Given the description of an element on the screen output the (x, y) to click on. 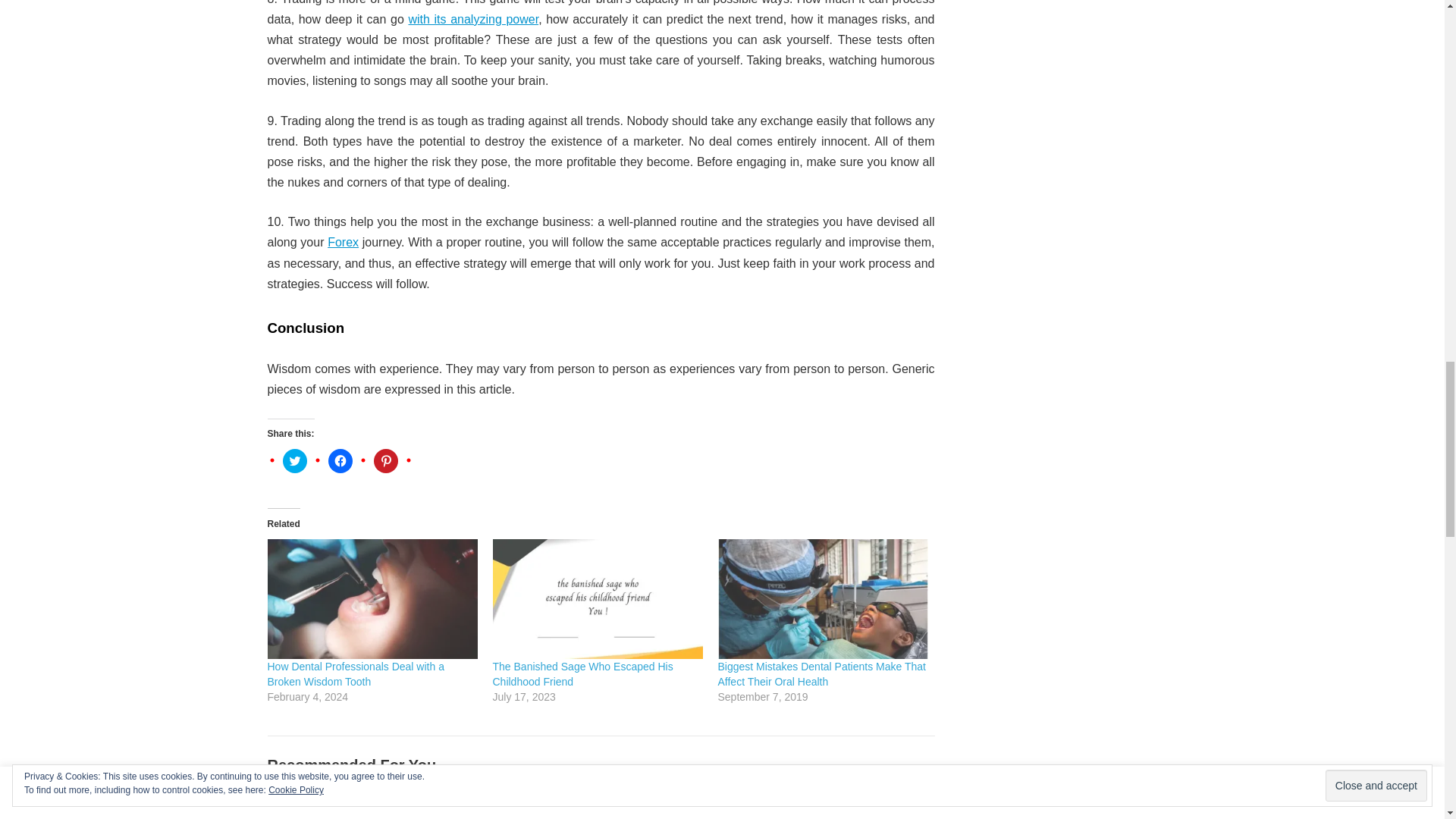
How Dental Professionals Deal with a Broken Wisdom Tooth (355, 673)
Click to share on Twitter (293, 460)
Click to share on Facebook (339, 460)
How Dental Professionals Deal with a Broken Wisdom Tooth (371, 598)
The Banished Sage Who Escaped His Childhood Friend (598, 598)
Click to share on Pinterest (384, 460)
The Banished Sage Who Escaped His Childhood Friend (582, 673)
